Given the description of an element on the screen output the (x, y) to click on. 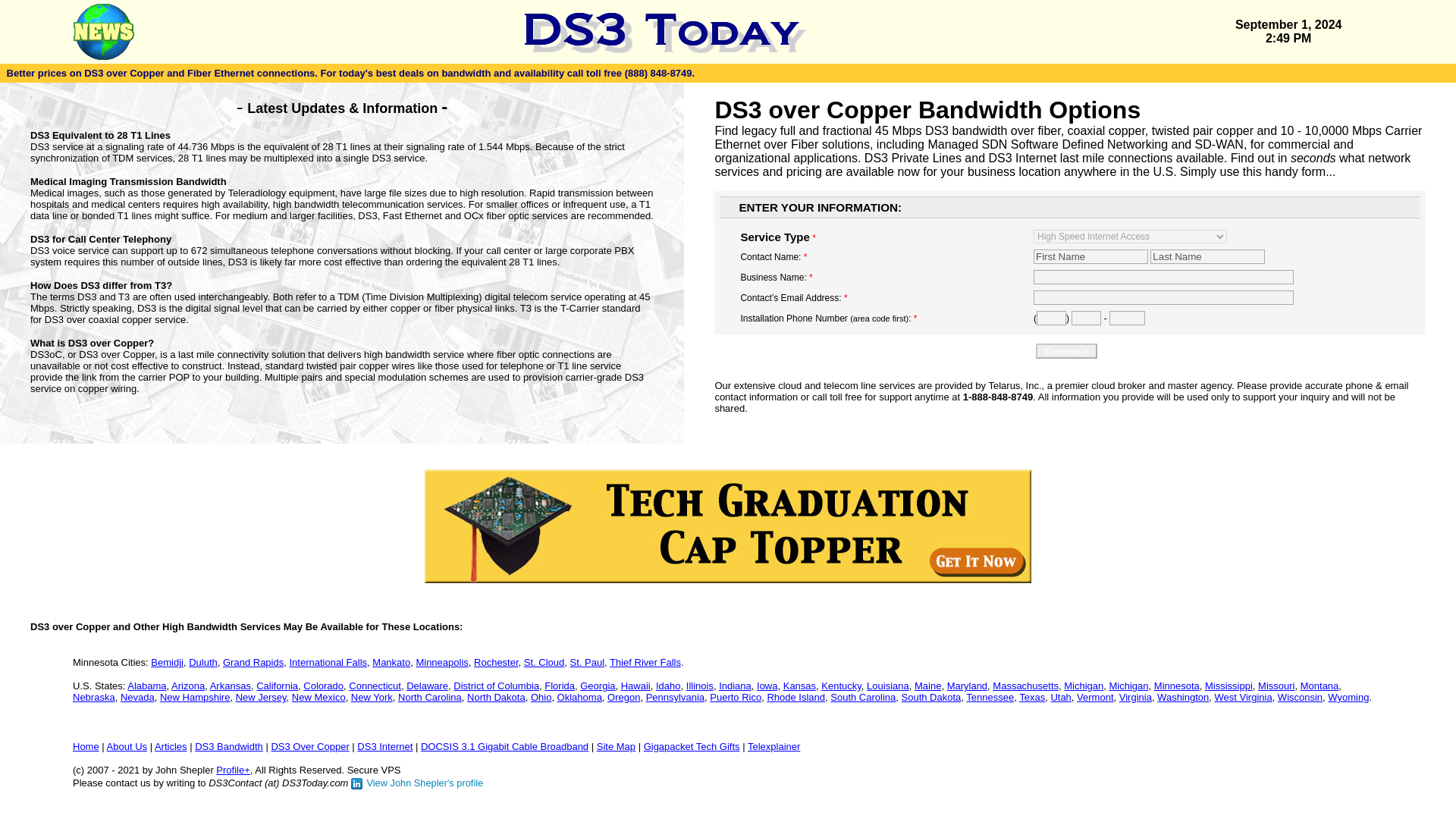
Maine (927, 685)
St. Cloud (544, 662)
Georgia (596, 685)
Thief River Falls (645, 662)
Alabama (146, 685)
Grand Rapids (252, 662)
Kansas (799, 685)
Minnesota (1176, 685)
Idaho (668, 685)
Louisiana (887, 685)
